Given the description of an element on the screen output the (x, y) to click on. 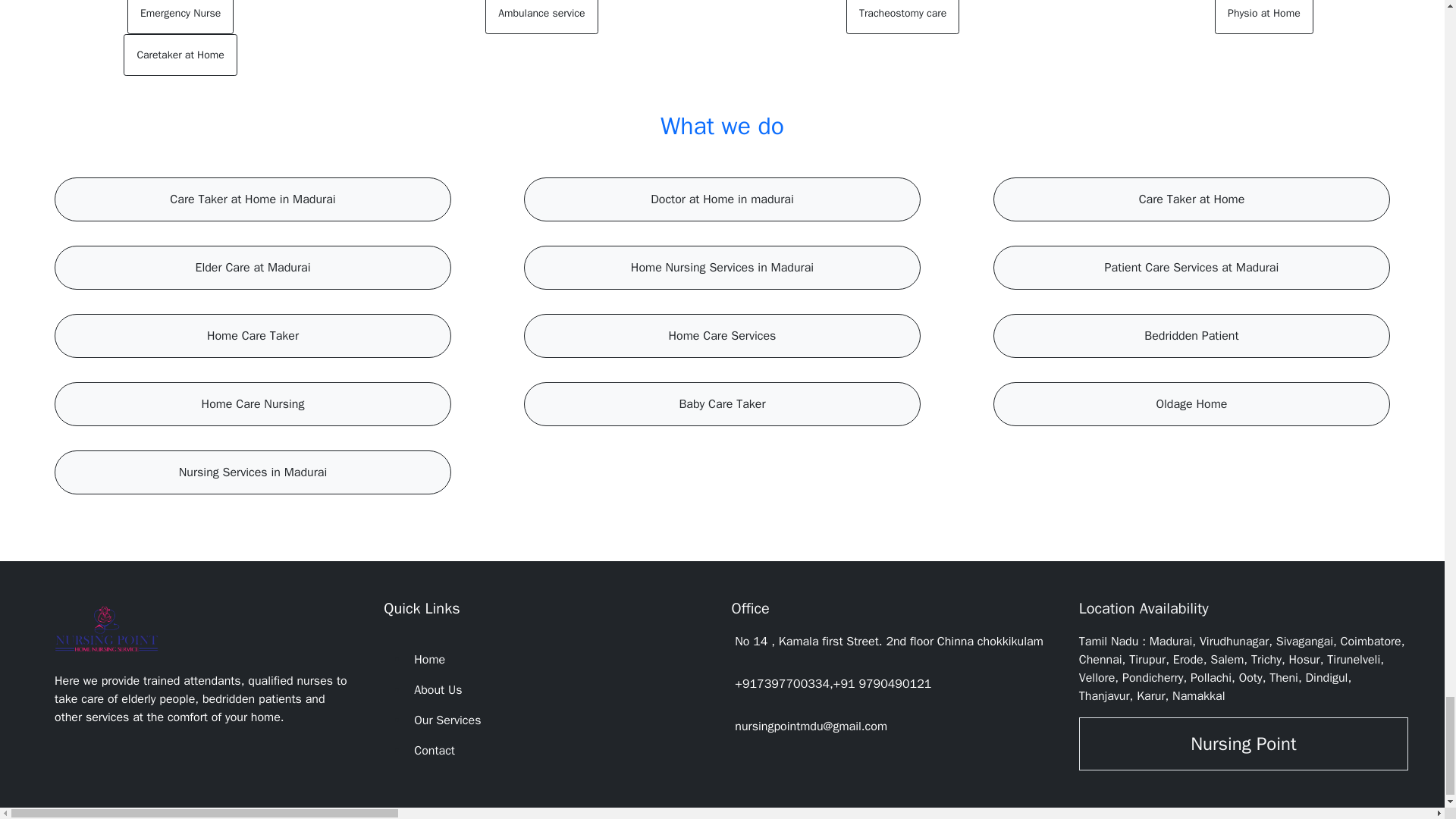
Emergency Nurse (180, 17)
Care Taker at Home (1191, 199)
Home Care Services (722, 335)
Caretaker at Home (179, 54)
Doctor at Home in madurai (721, 199)
Tracheostomy care (902, 17)
Home Care Taker (252, 335)
Patient Care Services at Madurai (1192, 267)
Elder Care at Madurai (252, 267)
Home Nursing Services in Madurai (721, 267)
Physio at Home (1263, 17)
Care Taker at Home in Madurai (252, 199)
Ambulance service (540, 17)
